Given the description of an element on the screen output the (x, y) to click on. 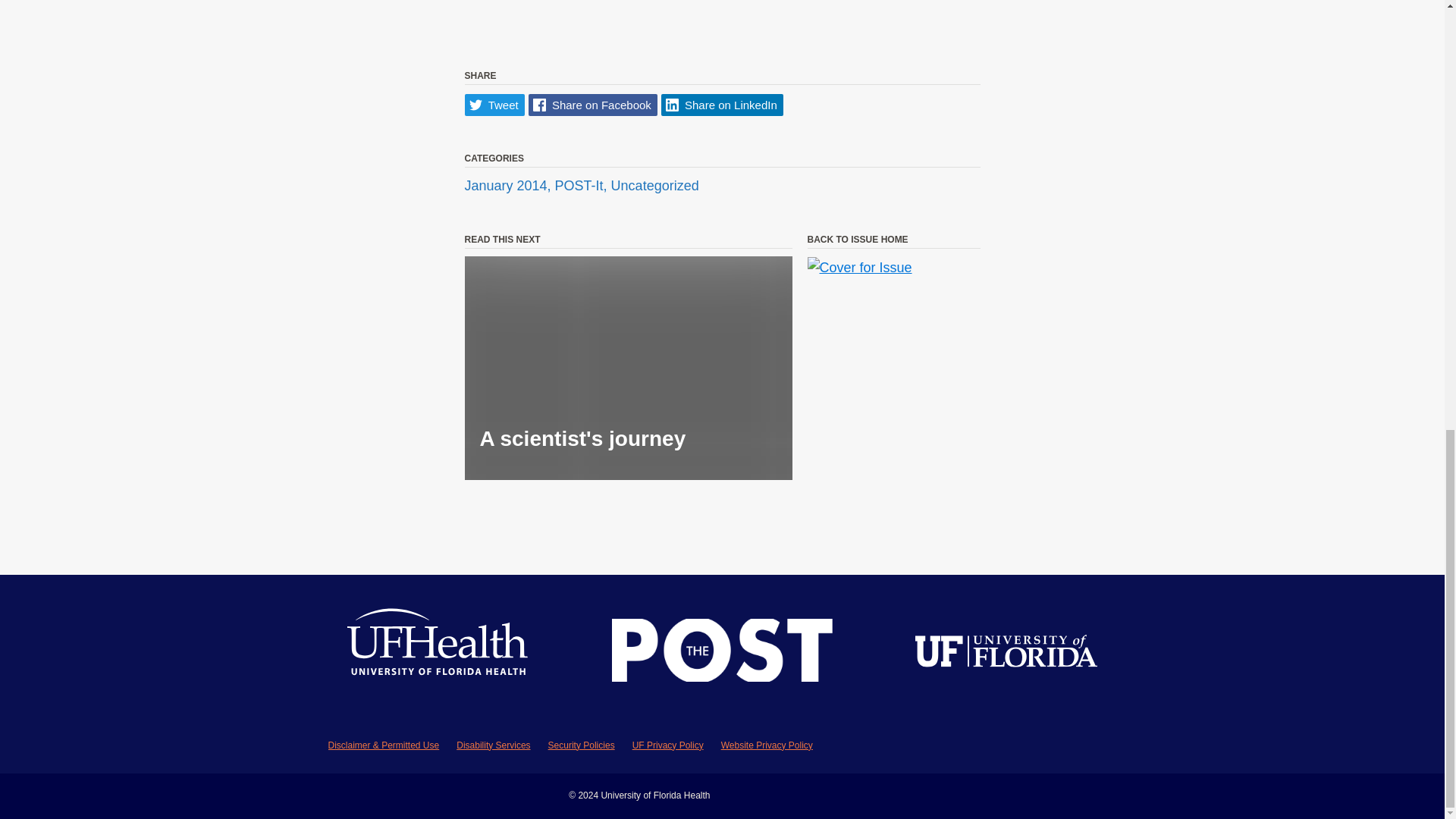
Share on LinkedIn (722, 105)
Security Policies (581, 745)
UF Health (437, 653)
A scientist's journey (628, 367)
UF Privacy Policy (667, 745)
Uncategorized (654, 185)
University of Florida Logo (1005, 653)
January 2014, (509, 185)
UF Health Logo (437, 653)
Disability Services (493, 745)
